Given the description of an element on the screen output the (x, y) to click on. 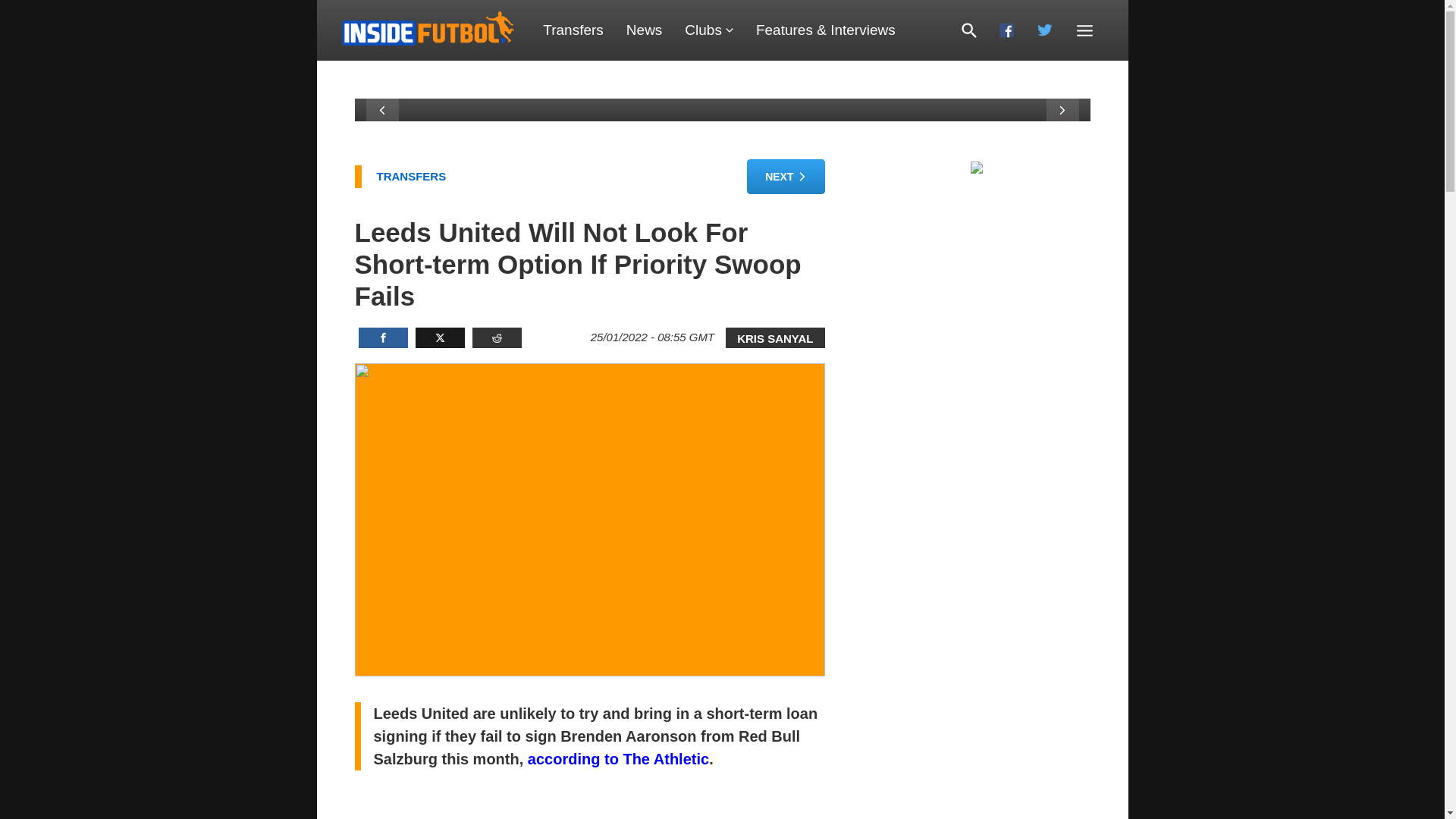
Clubs (708, 30)
News (644, 30)
Transfers (572, 30)
